Given the description of an element on the screen output the (x, y) to click on. 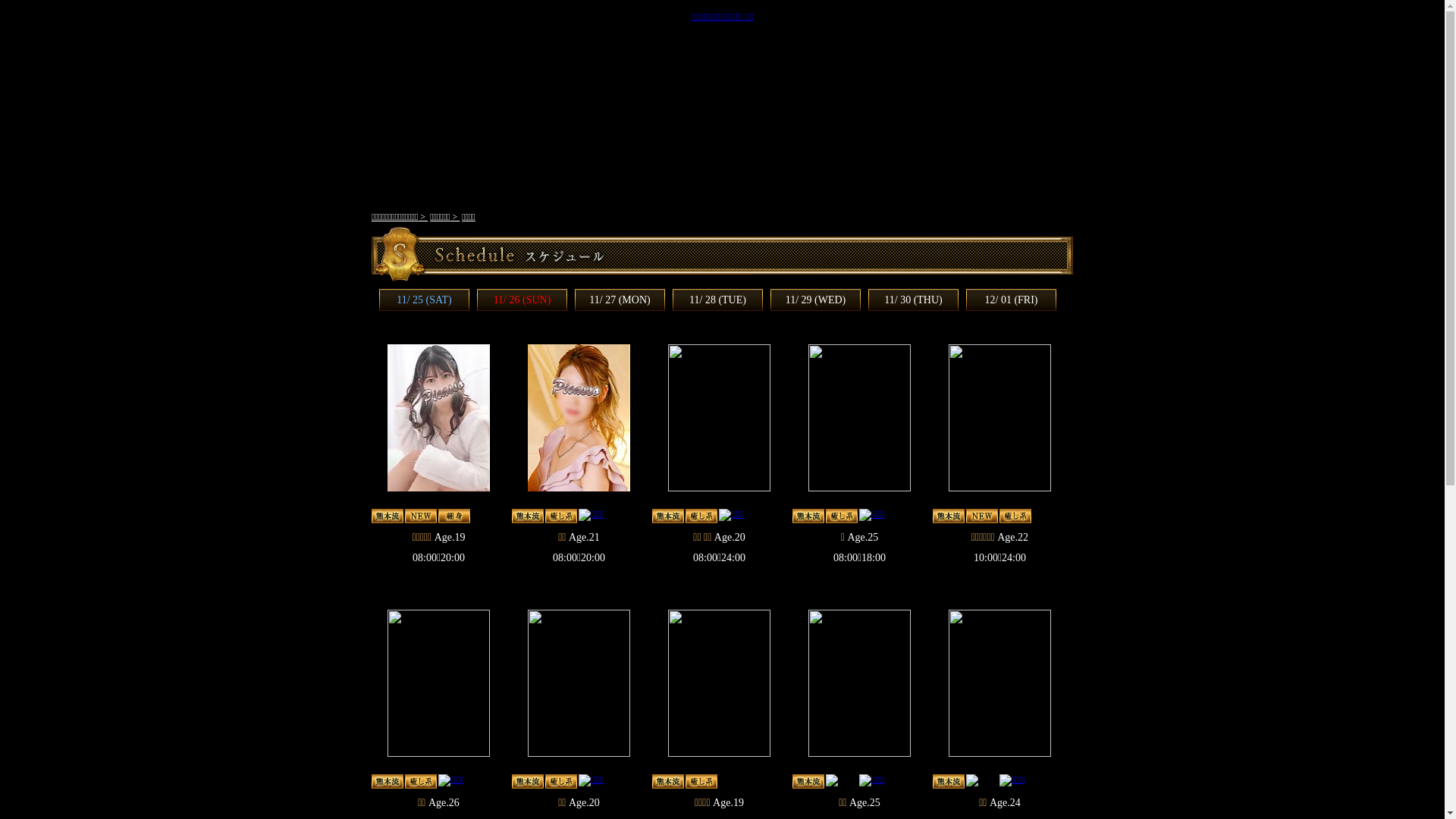
12/ 01 (FRI) Element type: text (1010, 299)
11/ 30 (THU) Element type: text (912, 299)
11/ 29 (WED) Element type: text (815, 299)
11/ 27 (MON) Element type: text (619, 299)
11/ 28 (TUE) Element type: text (717, 299)
11/ 26 (SUN) Element type: text (522, 299)
11/ 25 (SAT) Element type: text (423, 299)
